Given the description of an element on the screen output the (x, y) to click on. 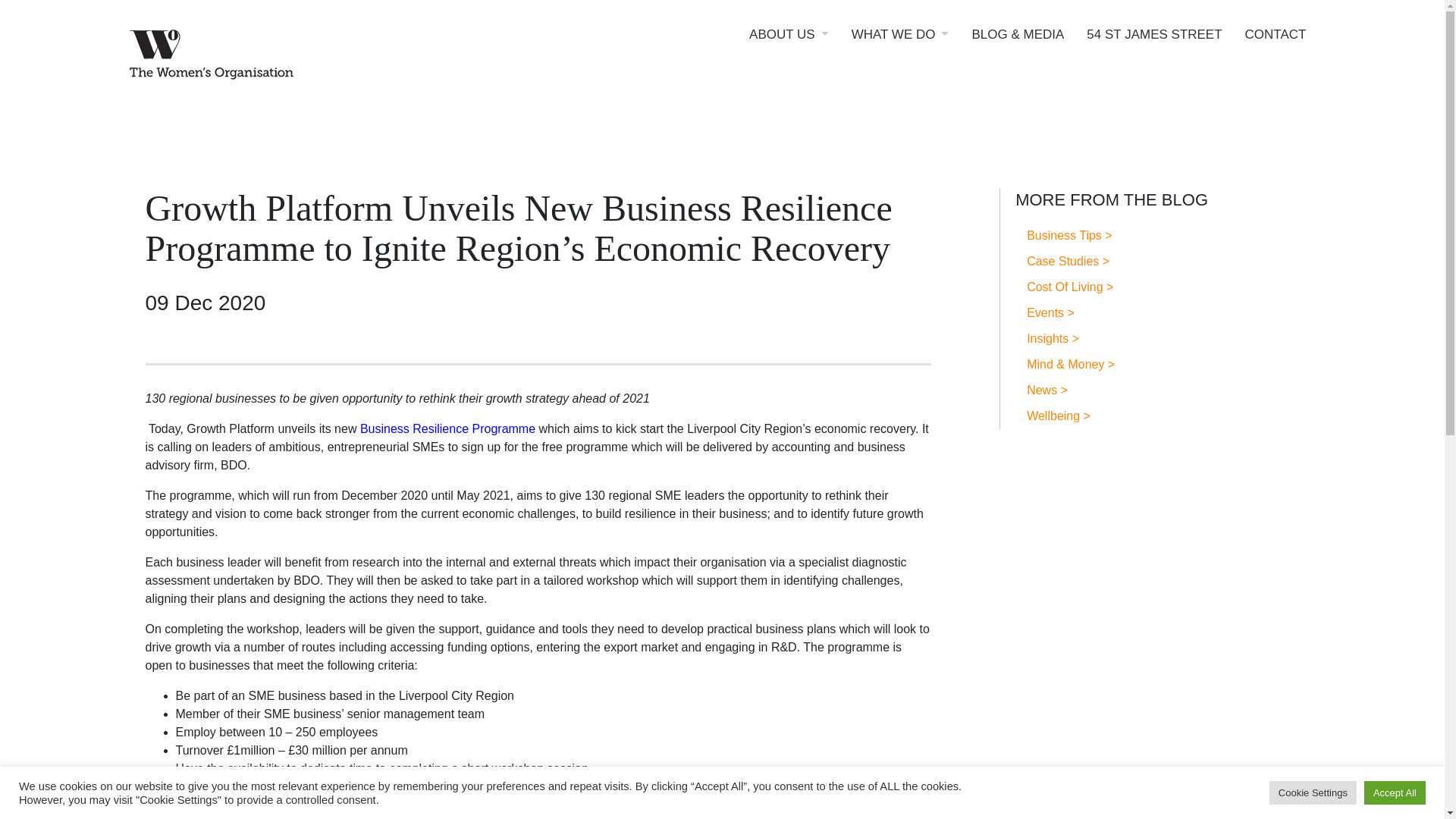
CONTACT (1275, 46)
What We Do (900, 46)
54 ST JAMES STREET (1153, 46)
About Us (788, 46)
Business Resilience Programme (447, 428)
WHAT WE DO (900, 46)
ABOUT US (788, 46)
The Womens Organisation (267, 57)
